Given the description of an element on the screen output the (x, y) to click on. 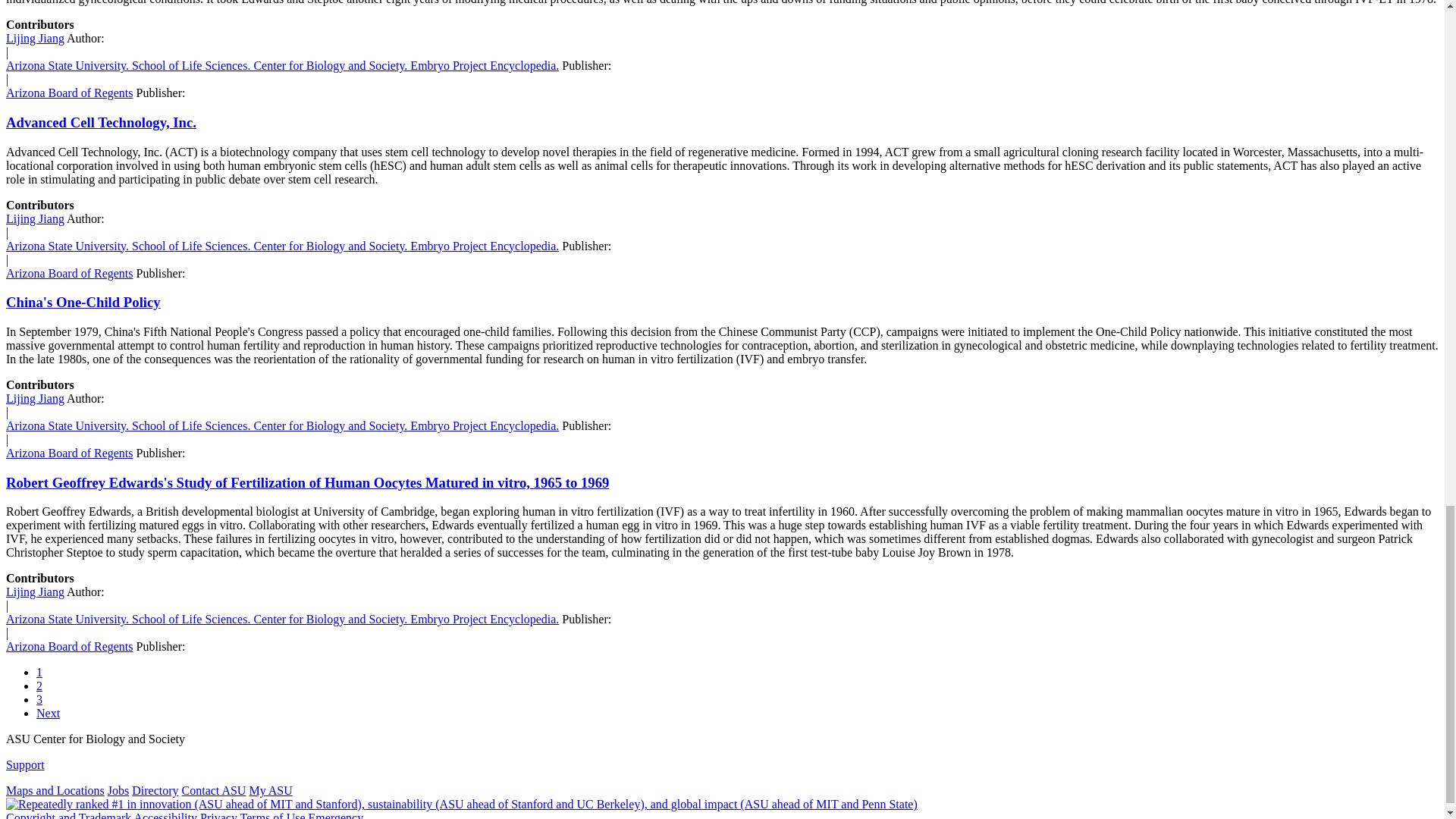
Arizona Board of Regents (69, 92)
Arizona Board of Regents (69, 452)
Lijing Jiang (34, 38)
Advanced Cell Technology, Inc. (100, 122)
Go to page 3 (39, 698)
Arizona Board of Regents (69, 273)
Current page (39, 671)
Go to page 2 (39, 685)
Go to last page (47, 712)
China's One-Child Policy (82, 302)
Lijing Jiang (34, 218)
Lijing Jiang (34, 398)
